Given the description of an element on the screen output the (x, y) to click on. 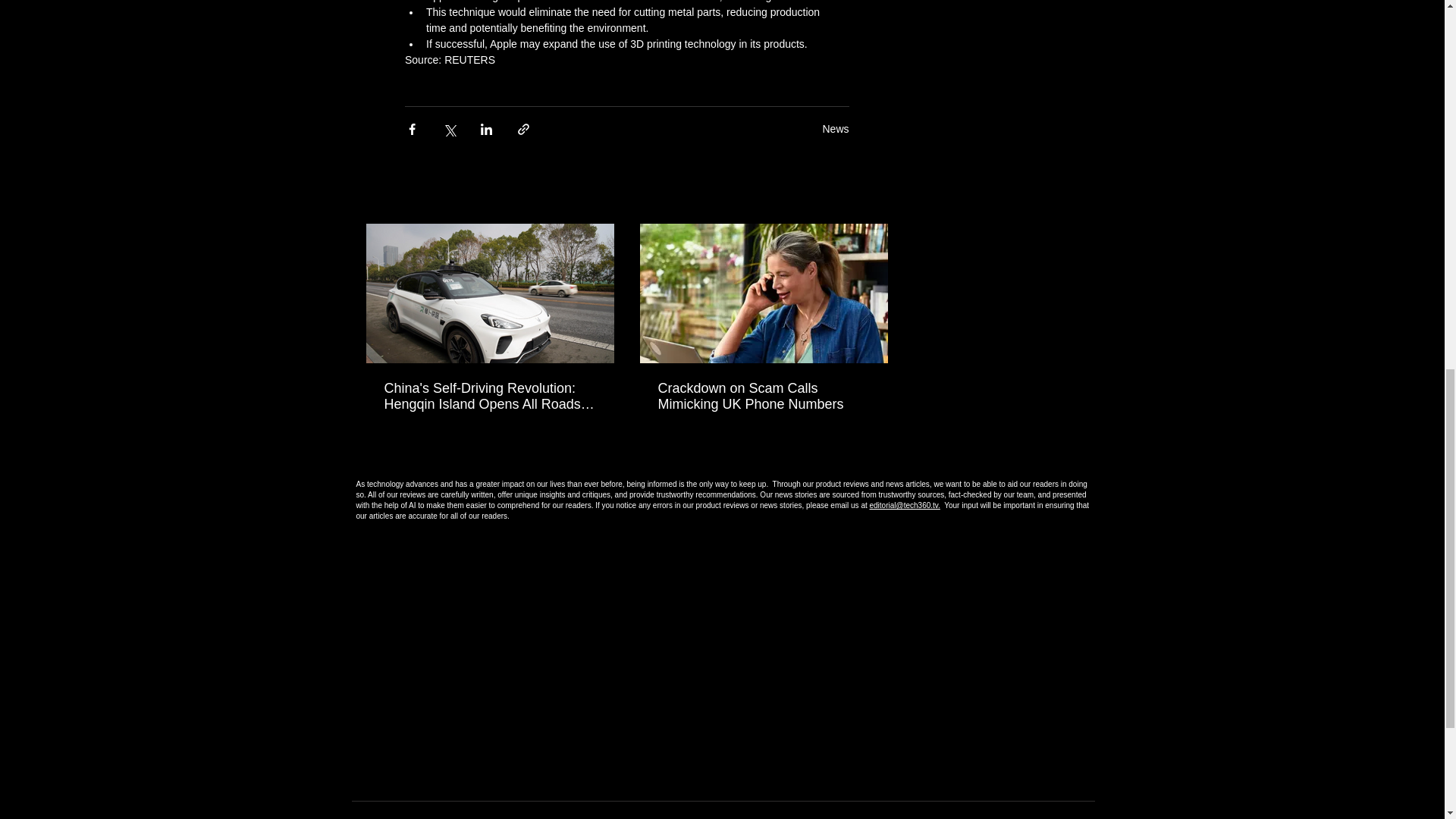
News (835, 128)
Crackdown on Scam Calls Mimicking UK Phone Numbers (763, 396)
